Given the description of an element on the screen output the (x, y) to click on. 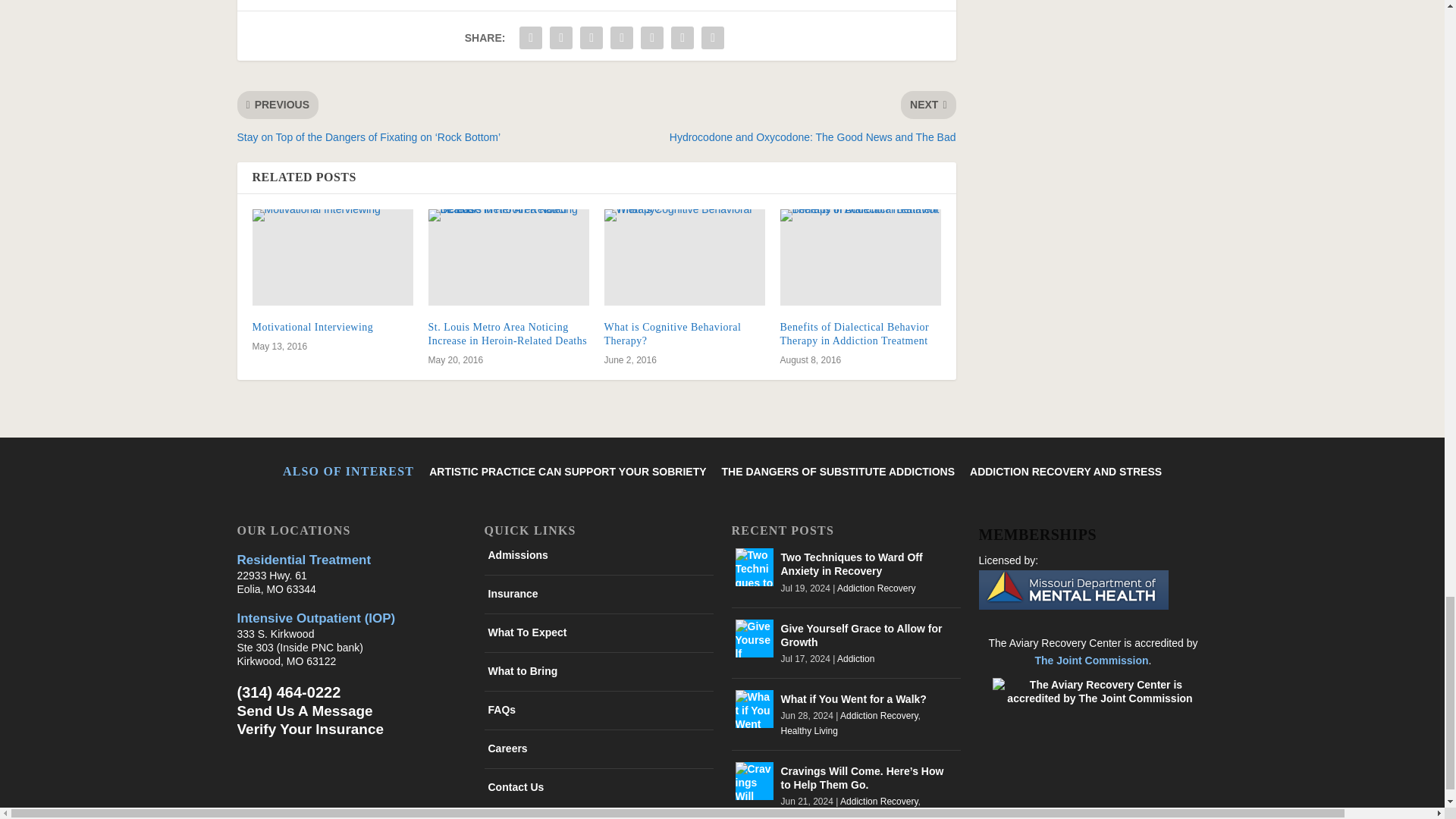
Share "Bidding Goodbye to Benzos Can Be Difficult" via Email (681, 37)
What is Cognitive Behavioral Therapy? (684, 257)
Share "Bidding Goodbye to Benzos Can Be Difficult" via Print (712, 37)
Motivational Interviewing (331, 257)
